Given the description of an element on the screen output the (x, y) to click on. 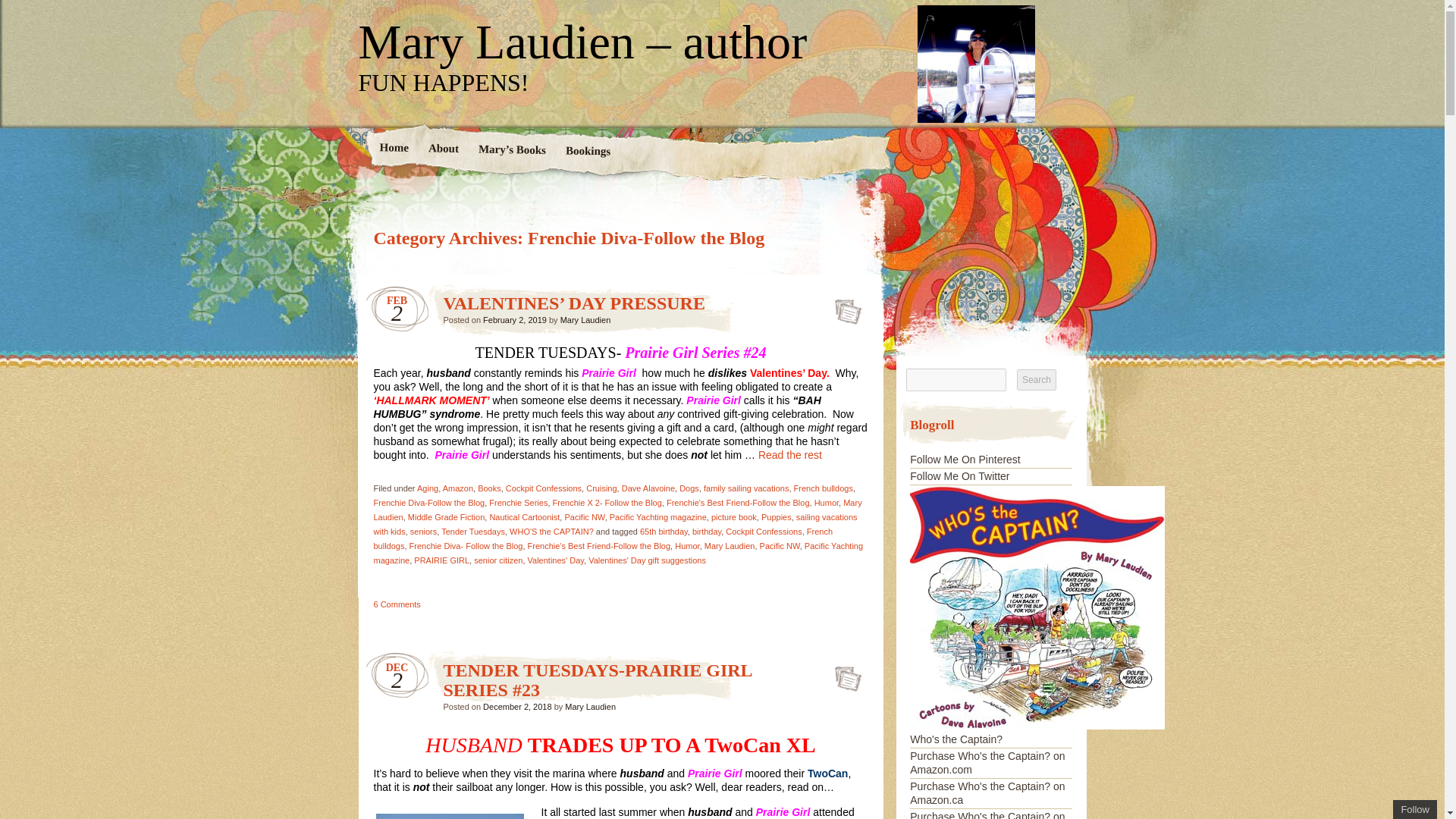
Cockpit Confessions (763, 530)
Frenchie's Best Friend-Follow the Blog (737, 501)
View all posts by Mary Laudien (585, 319)
Amazon (457, 488)
WHO'S the CAPTAIN? (551, 530)
Frenchie X 2- Follow the Blog (607, 501)
Cruising (600, 488)
Mary Laudien (616, 508)
birthday (706, 530)
picture book (734, 516)
February 2, 2019 (515, 319)
Search (1036, 379)
Cockpit Confessions (542, 488)
family sailing vacations (746, 488)
Dave Alavoine (648, 488)
